Given the description of an element on the screen output the (x, y) to click on. 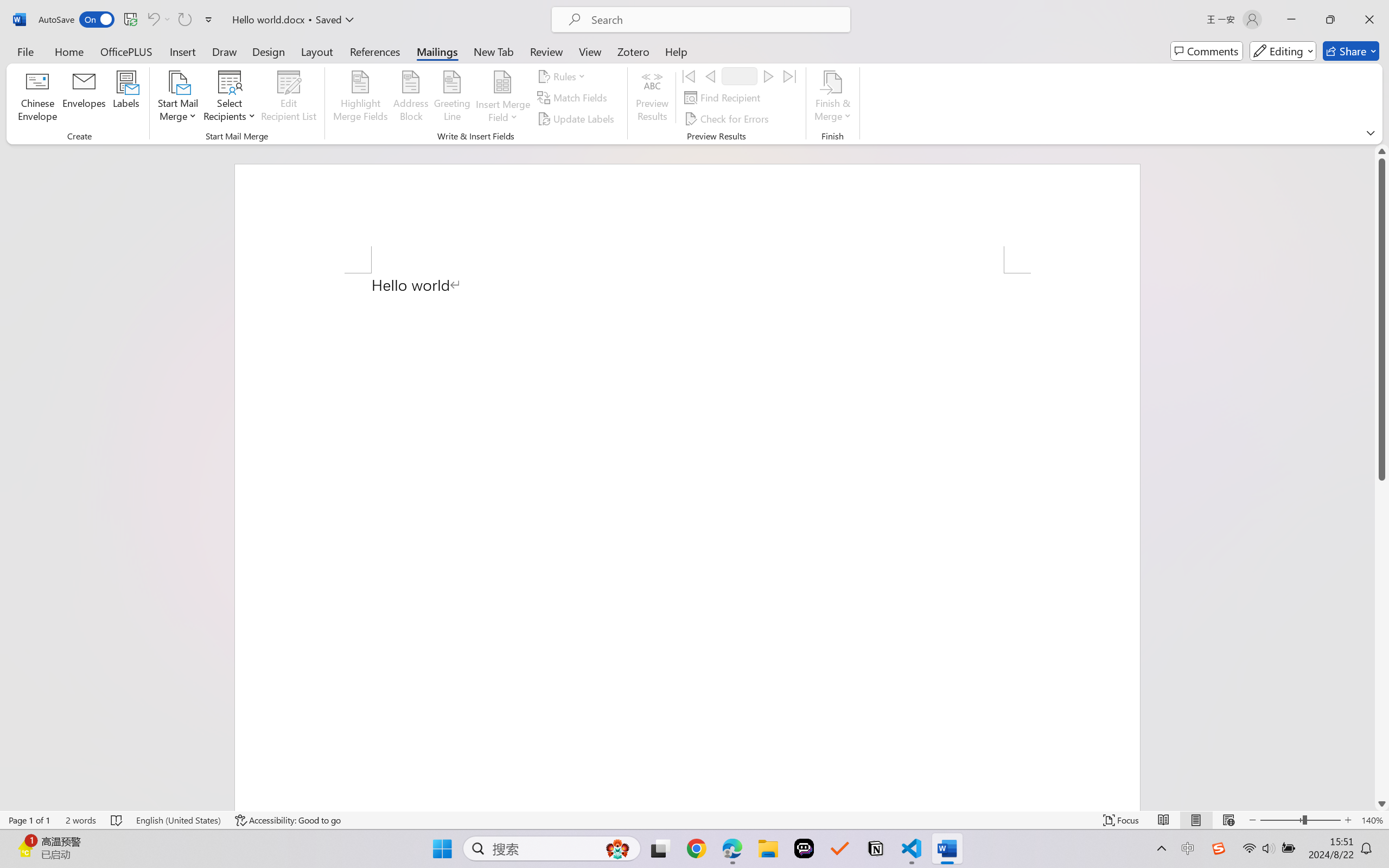
Design (268, 51)
Line down (1382, 803)
Quick Access Toolbar (127, 19)
OfficePLUS (126, 51)
Focus  (1121, 819)
Language English (United States) (178, 819)
AutomationID: DynamicSearchBoxGleamImage (617, 848)
Select Recipients (229, 97)
Save (130, 19)
Preview Results (652, 97)
Comments (1206, 50)
Insert Merge Field (502, 81)
File Tab (24, 51)
